Given the description of an element on the screen output the (x, y) to click on. 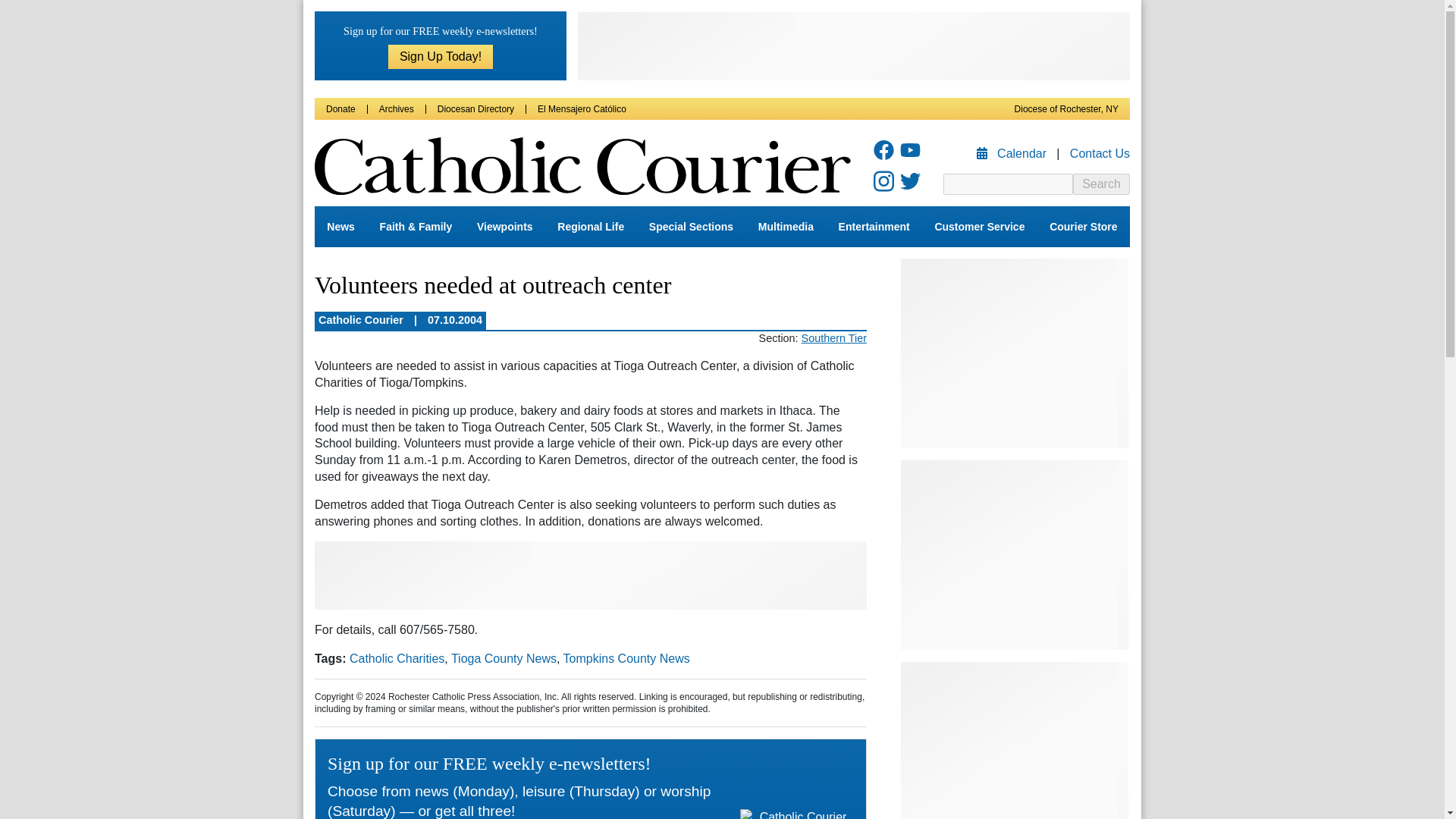
Special Sections (691, 226)
Viewpoints (504, 226)
Search (1101, 183)
Diocesan Directory (475, 108)
Contact Us (1099, 153)
  Calendar (1012, 153)
Search (1101, 183)
Donate (340, 108)
Sign Up Today! (440, 56)
Regional Life (590, 226)
